Given the description of an element on the screen output the (x, y) to click on. 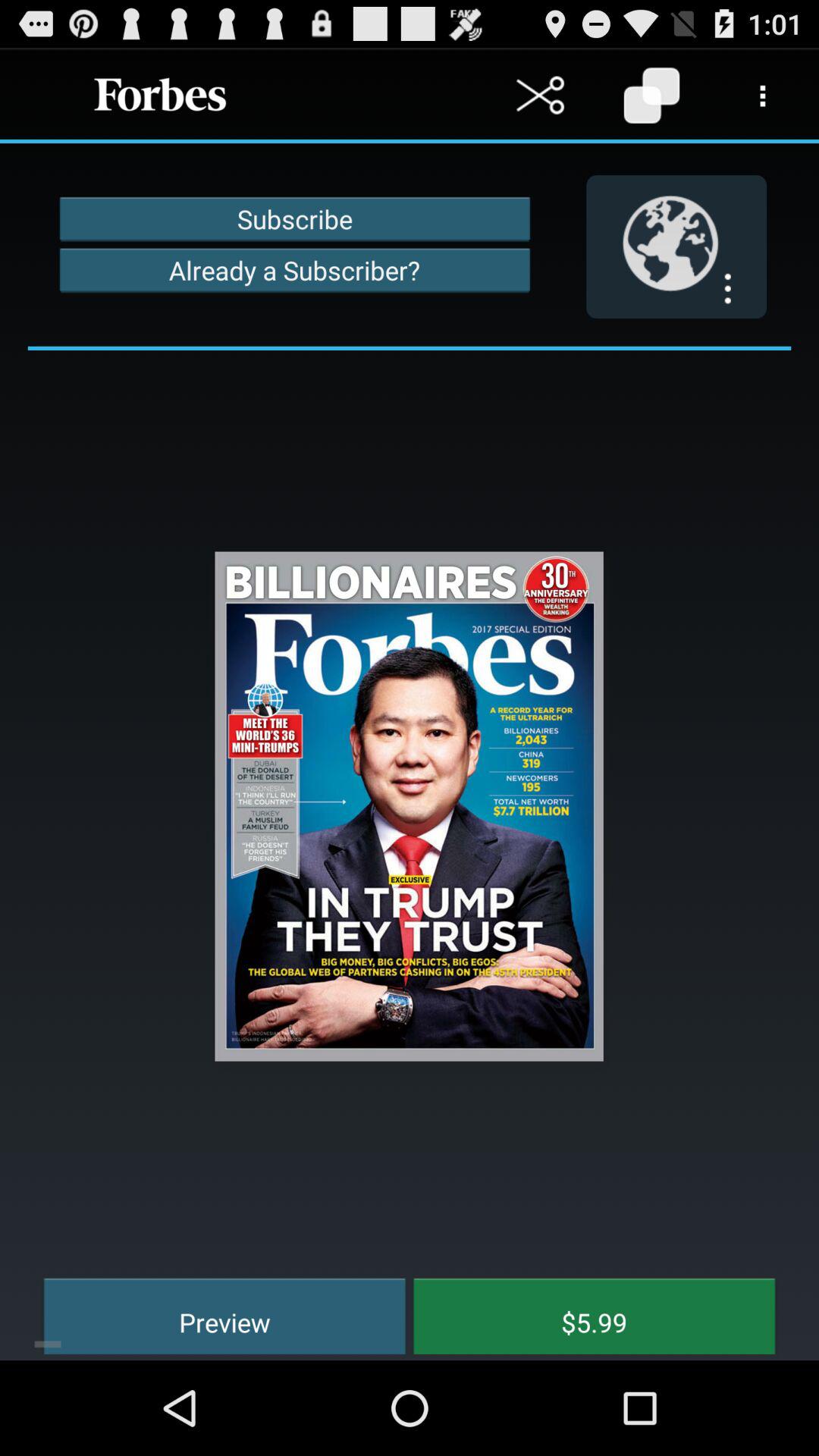
settings menu (763, 95)
